Given the description of an element on the screen output the (x, y) to click on. 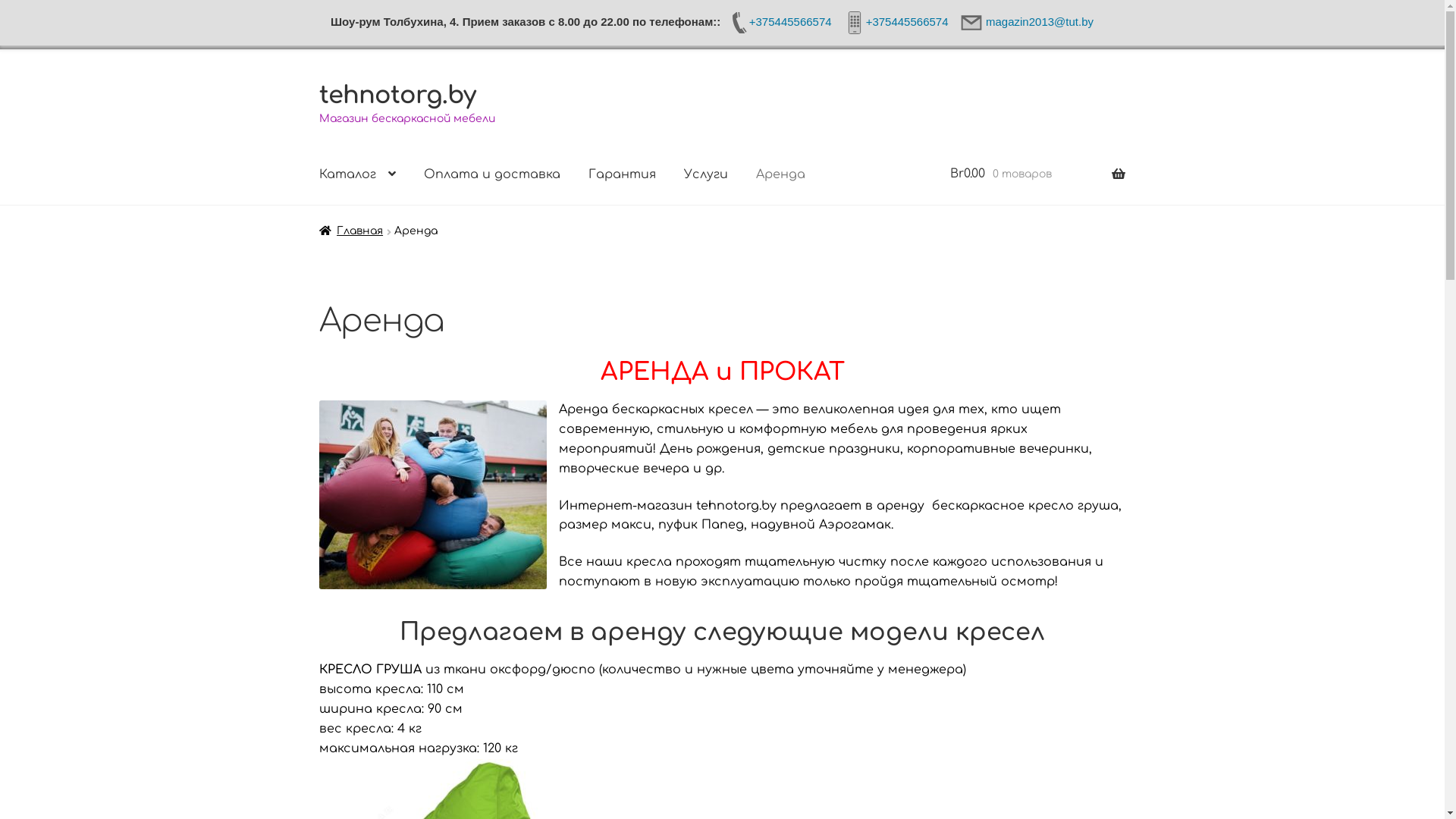
magazin2013@tut.by Element type: text (1028, 21)
tehnotorg.by Element type: text (397, 94)
+375445566574 Element type: text (895, 21)
+375445566574 Element type: text (778, 21)
